Given the description of an element on the screen output the (x, y) to click on. 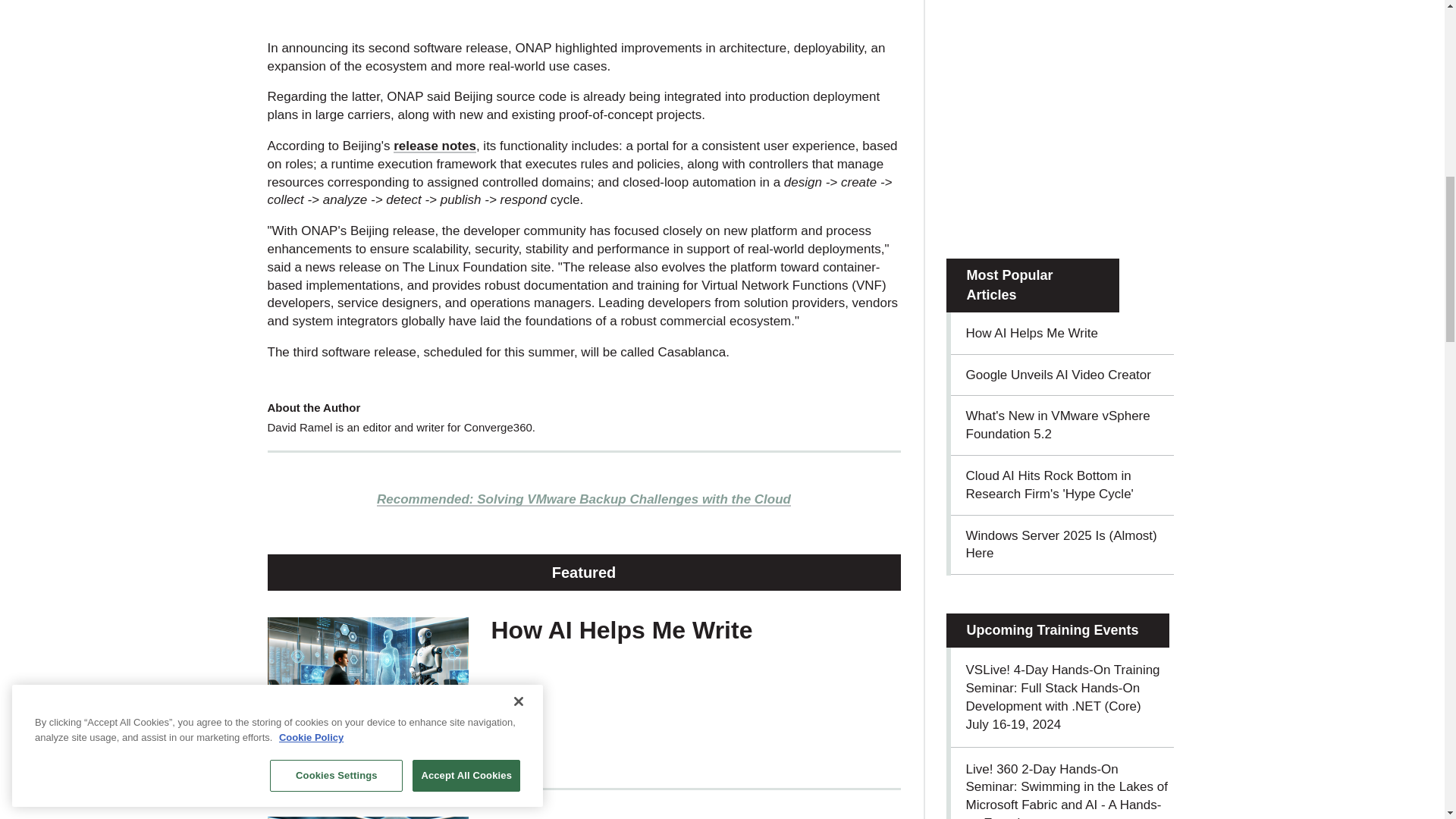
3rd party ad content (1059, 125)
3rd party ad content (583, 13)
